Given the description of an element on the screen output the (x, y) to click on. 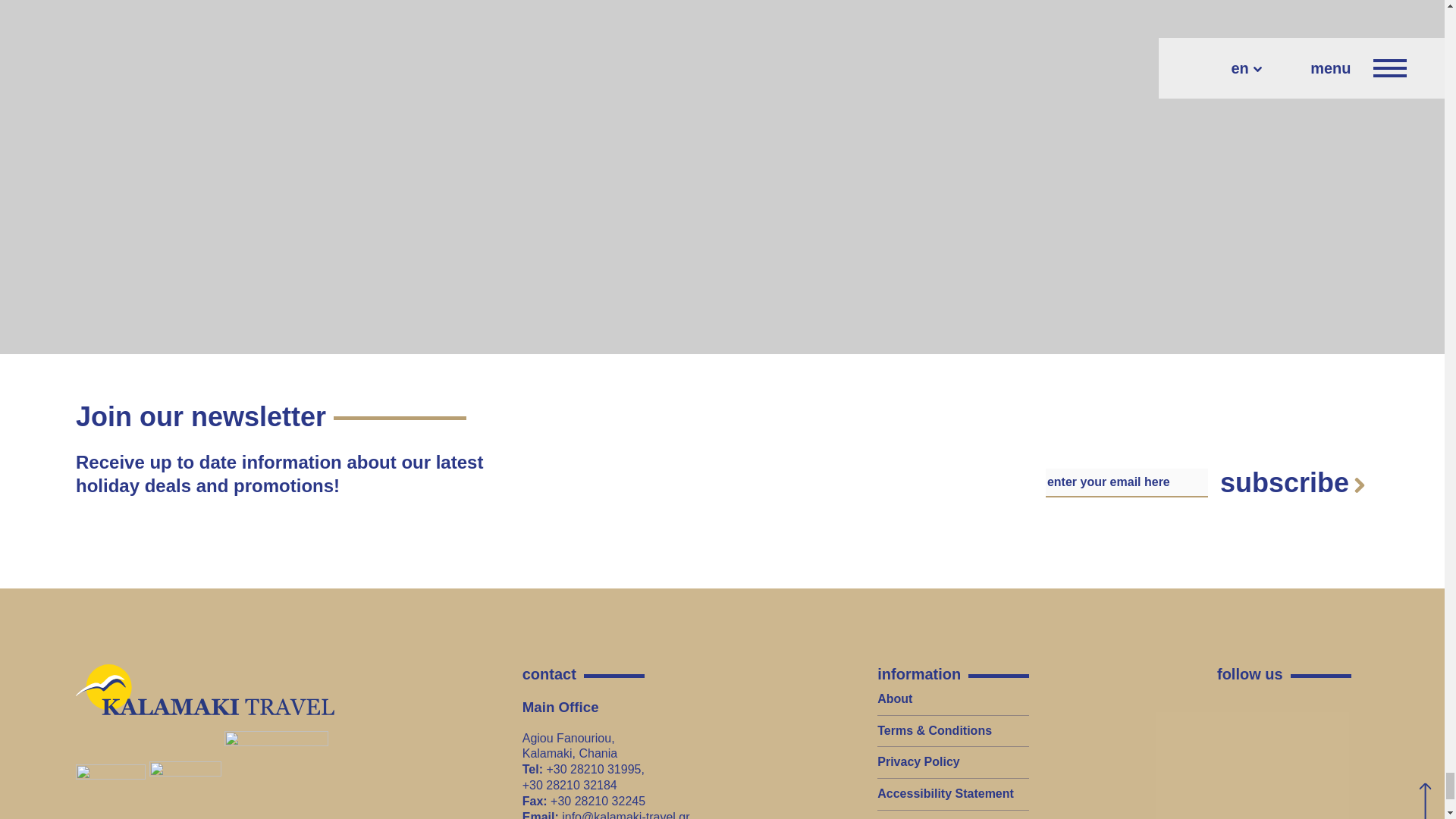
About (894, 698)
Accessibility Statement (945, 793)
Privacy Policy (918, 761)
subscribe (1291, 482)
